Given the description of an element on the screen output the (x, y) to click on. 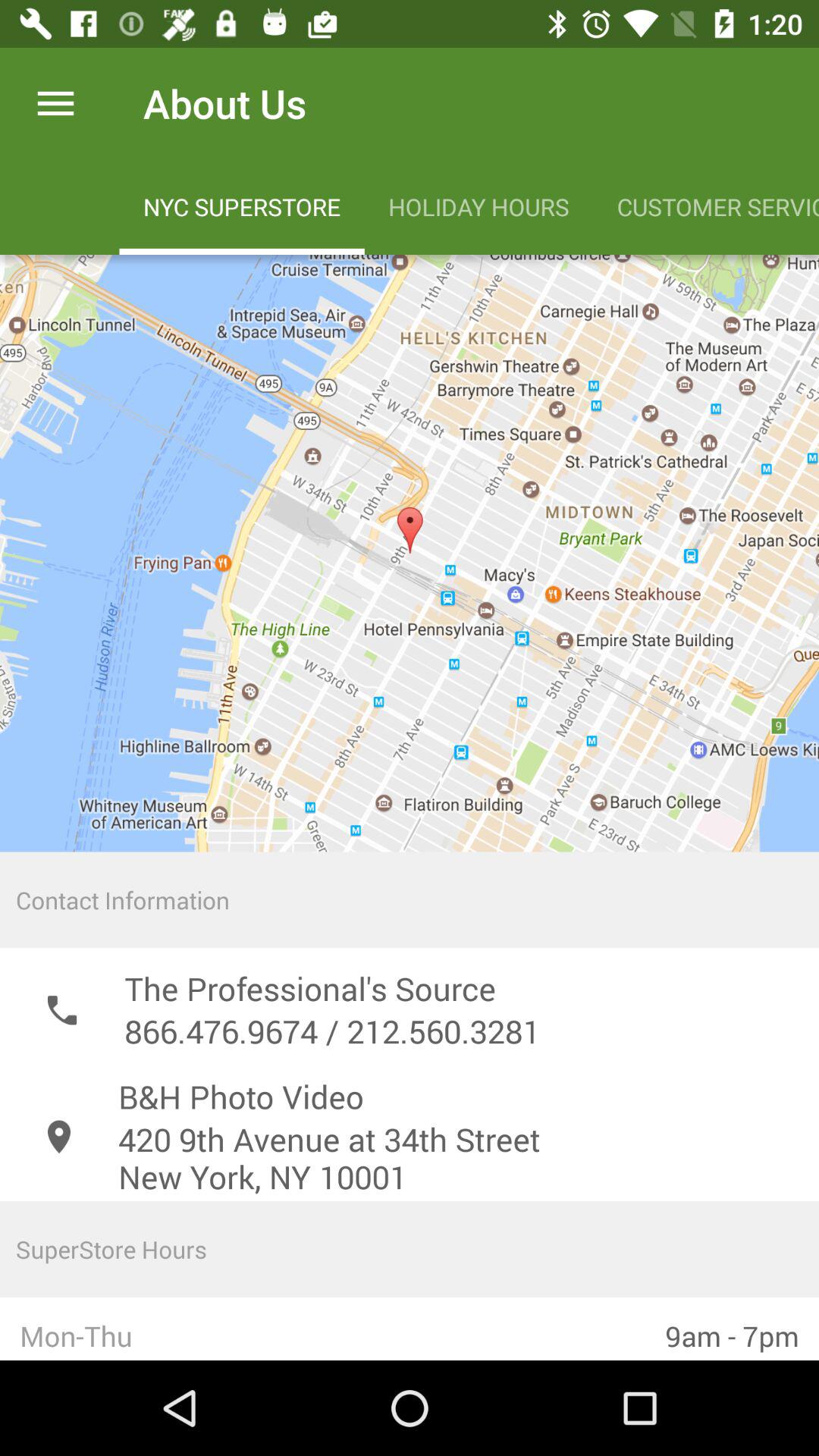
select the icon above the contact information icon (409, 552)
